Given the description of an element on the screen output the (x, y) to click on. 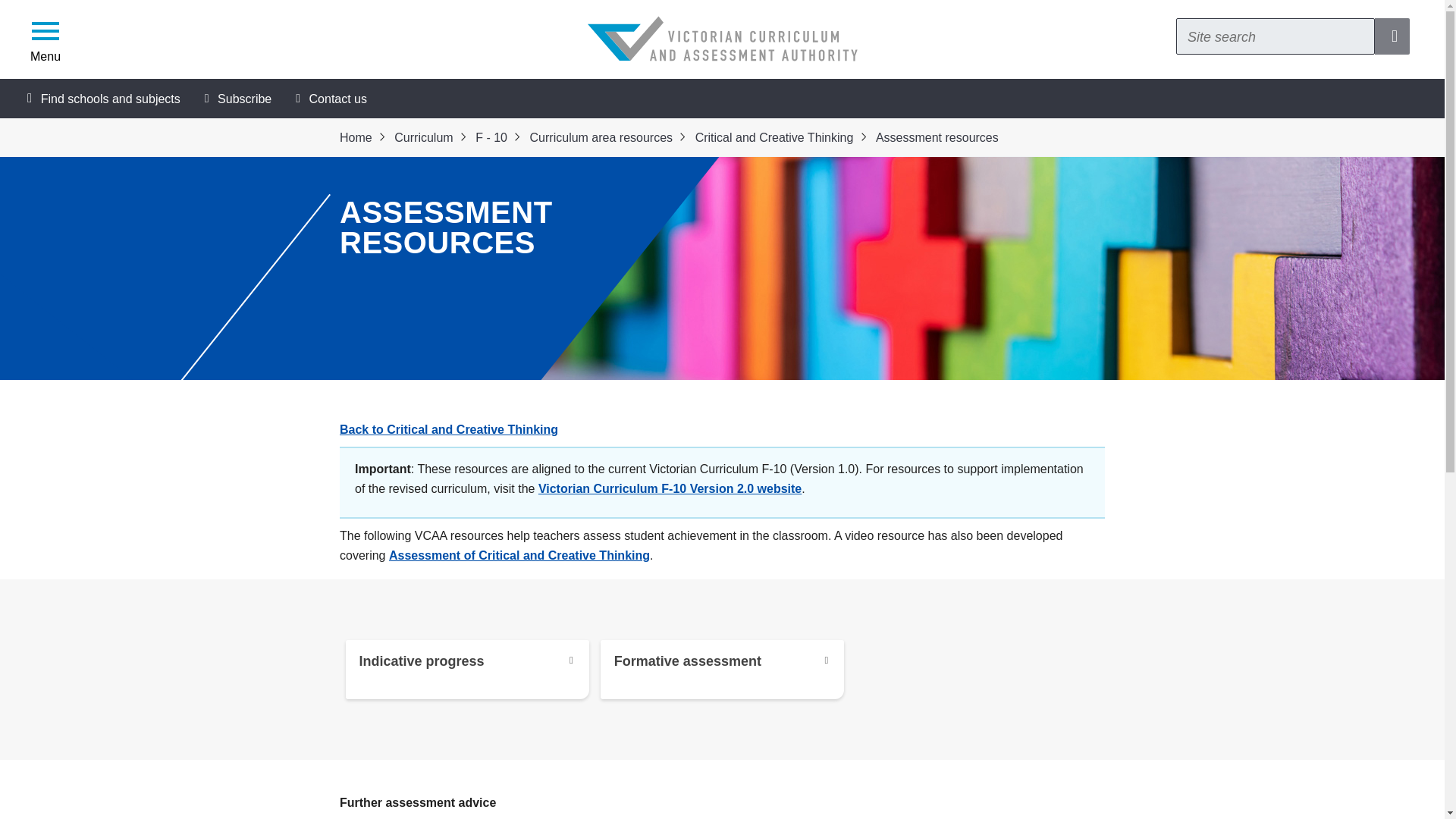
Search (1275, 36)
